Given the description of an element on the screen output the (x, y) to click on. 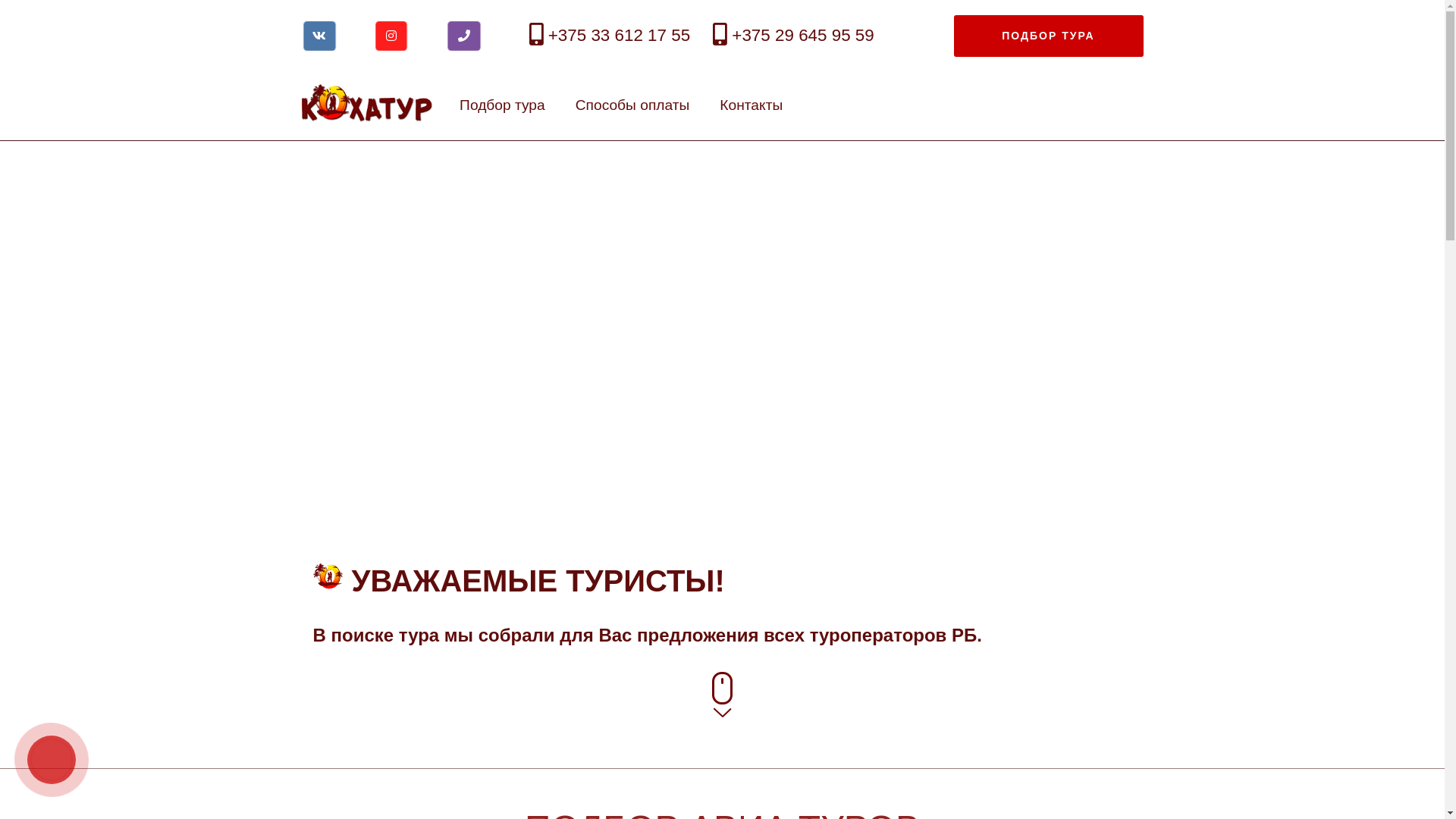
+375 29 645 95 59 Element type: text (793, 34)
Next Element type: text (1335, 420)
+375 33 612 17 55 Element type: text (609, 34)
Previous Element type: text (108, 420)
